Given the description of an element on the screen output the (x, y) to click on. 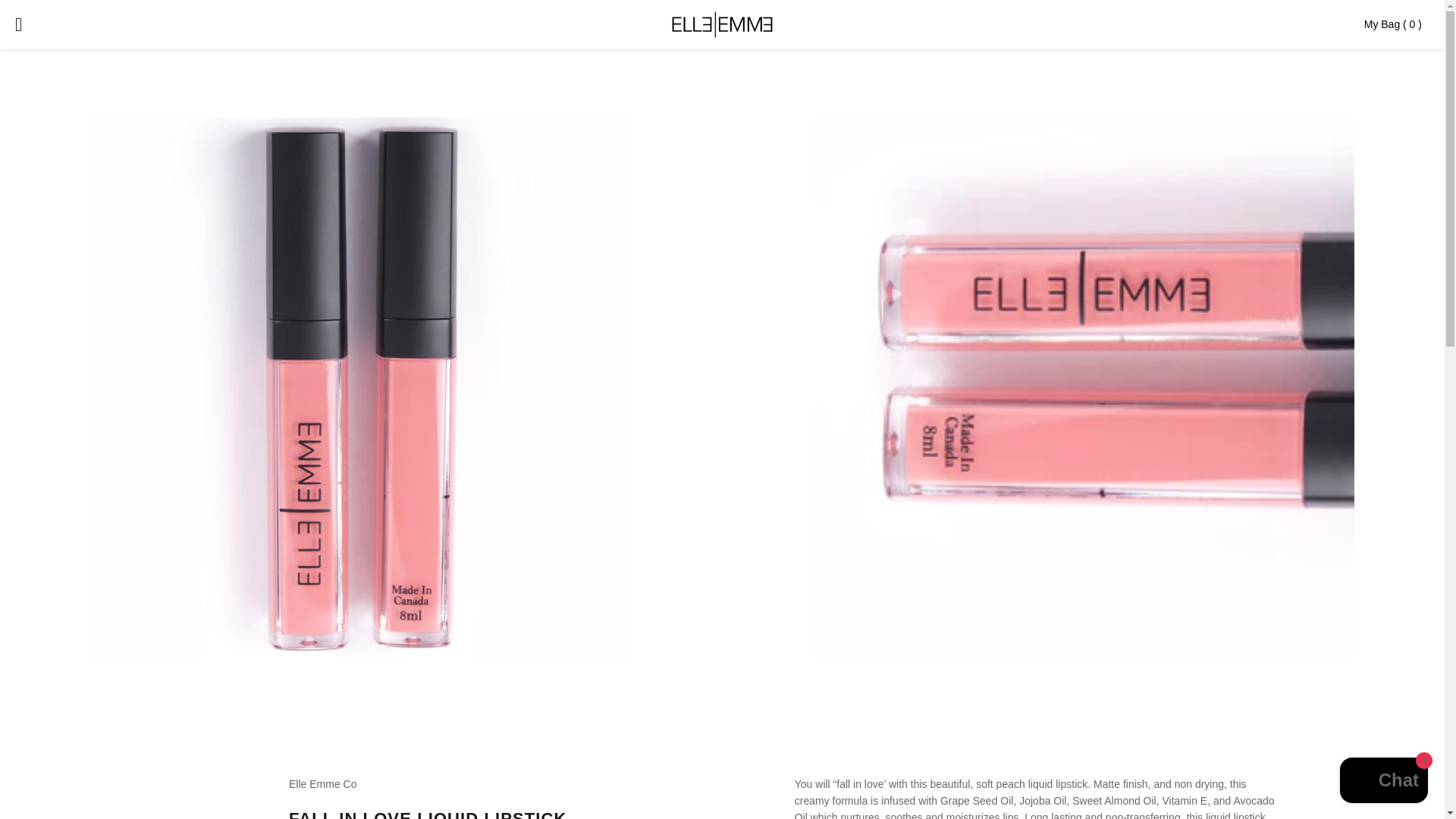
Shopify online store chat (1383, 781)
